Given the description of an element on the screen output the (x, y) to click on. 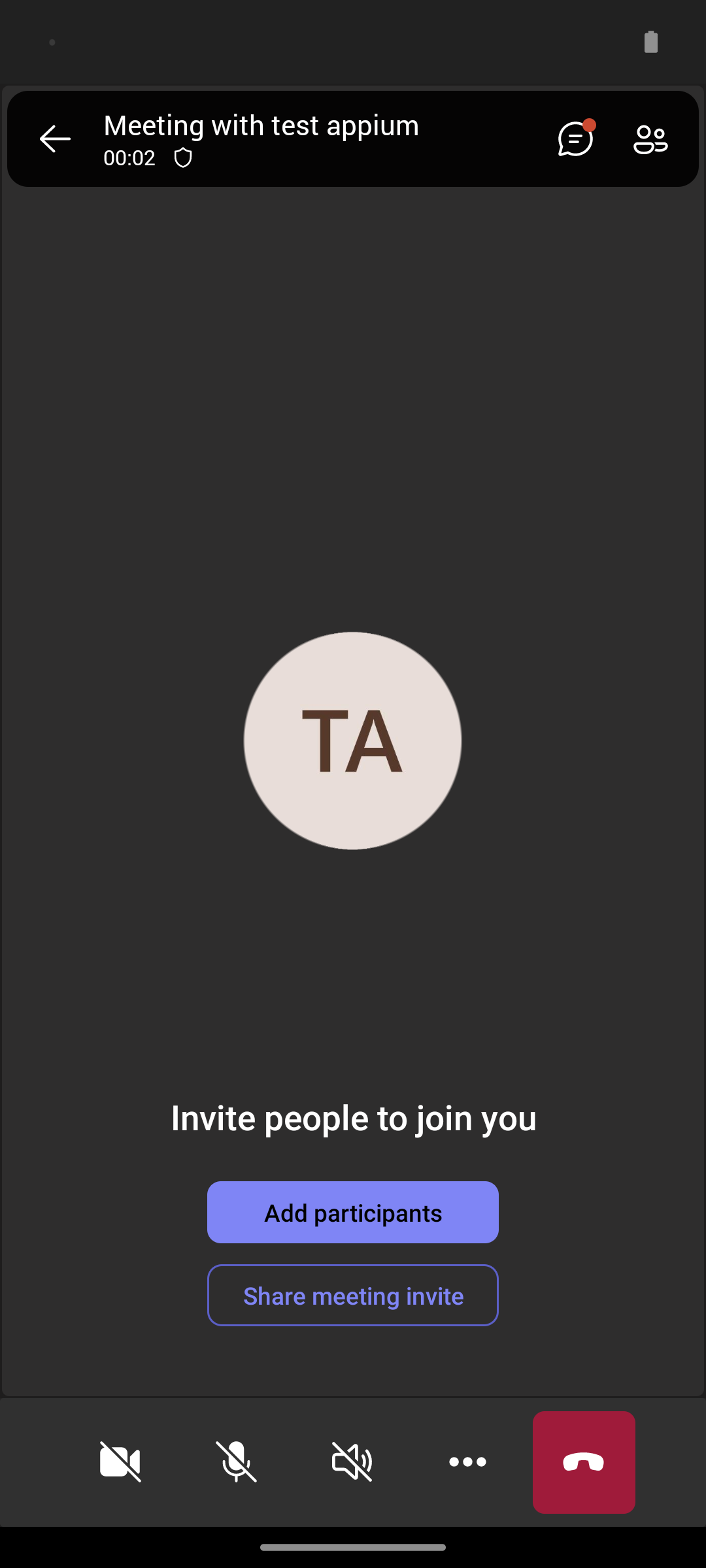
Back (55, 138)
Chat new messages are available (570, 138)
Show participants (655, 138)
Add participants (352, 1211)
Share meeting invite (352, 1294)
Turn on camera (120, 1462)
Unmute (236, 1462)
Audio (352, 1462)
More options (468, 1462)
Hang up (584, 1462)
